Given the description of an element on the screen output the (x, y) to click on. 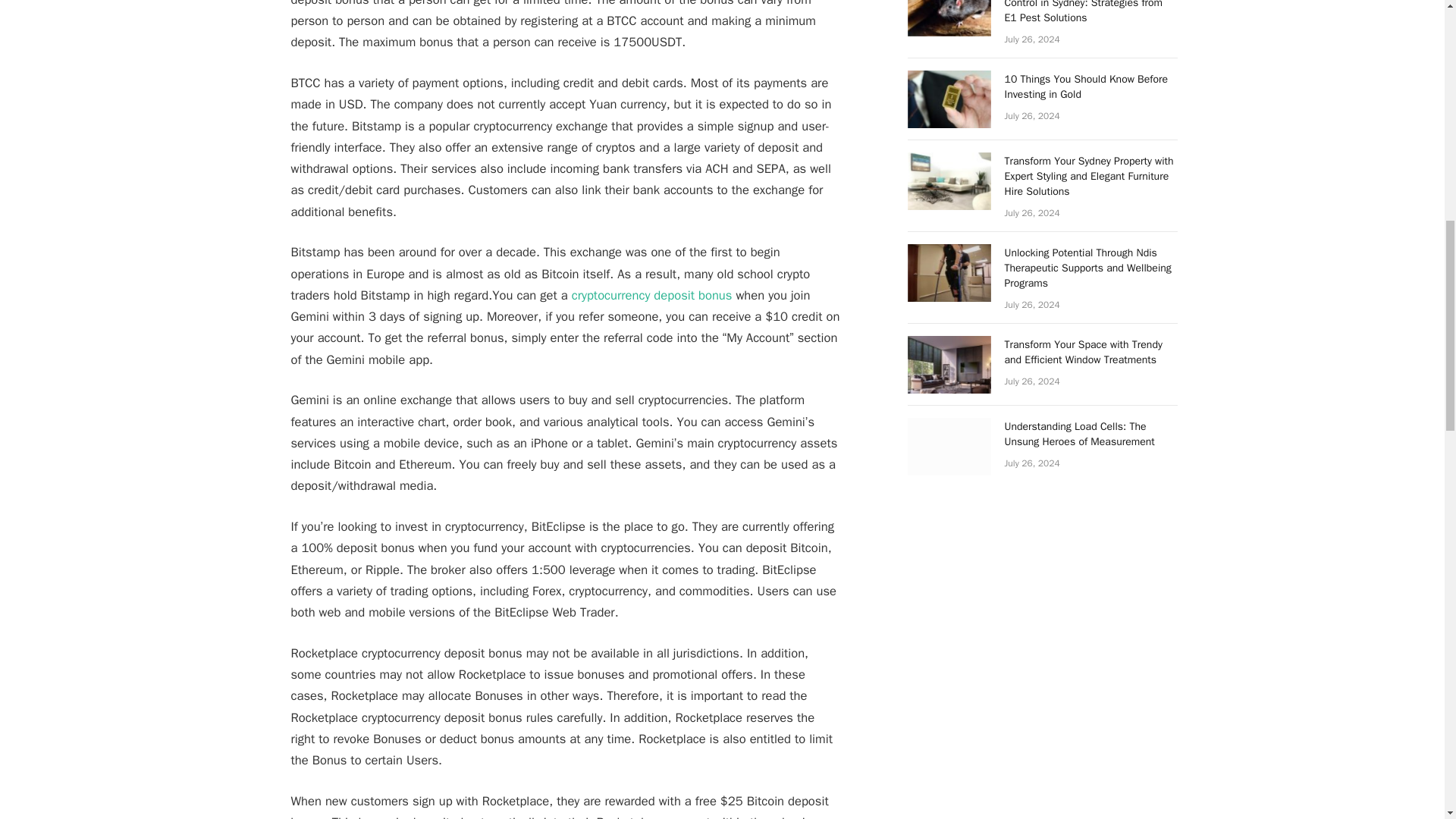
cryptocurrency deposit bonus (652, 295)
